Given the description of an element on the screen output the (x, y) to click on. 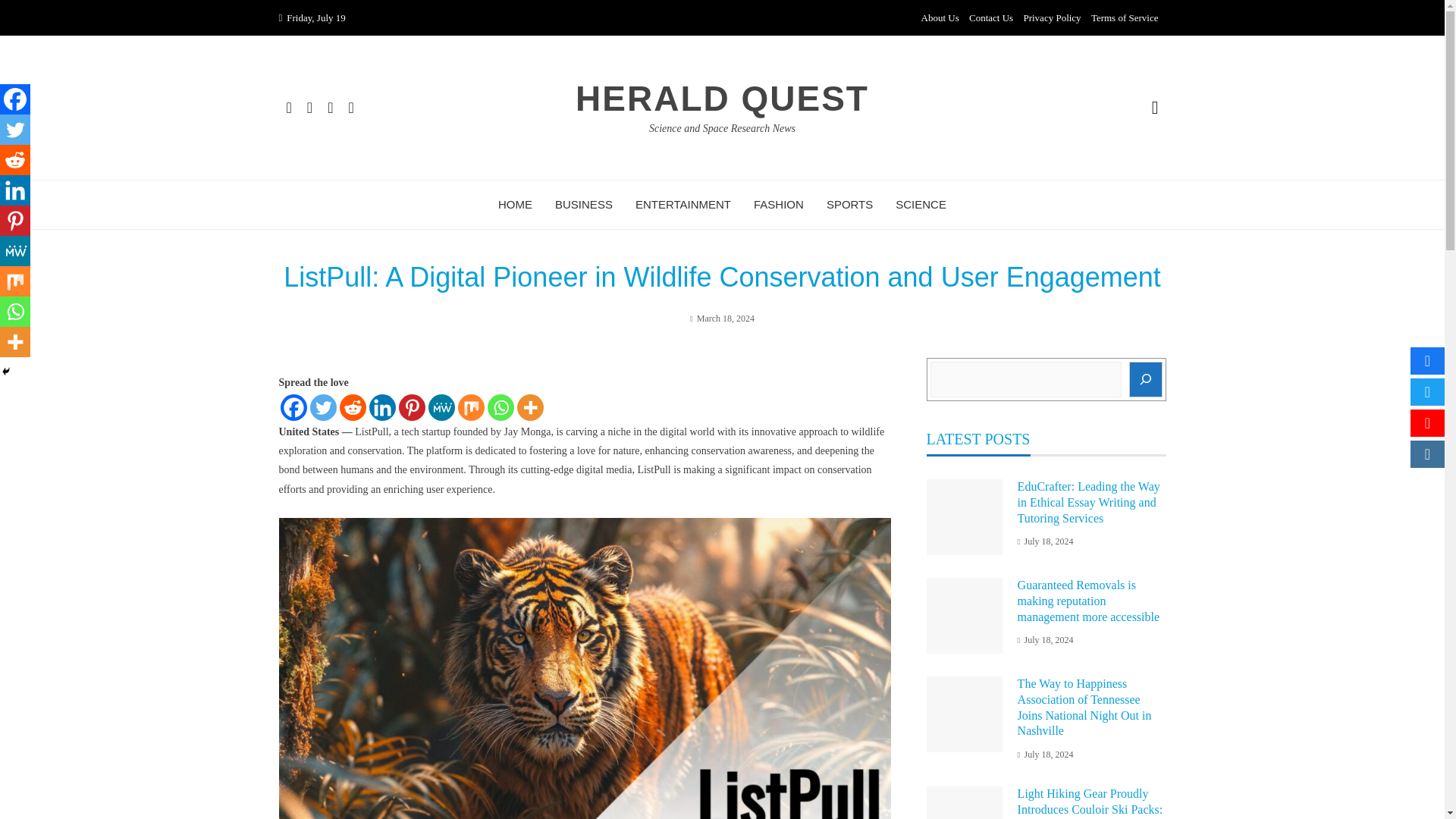
Facebook (294, 406)
Terms of Service (1124, 17)
MeWe (15, 250)
Linkedin (381, 406)
Privacy Policy (1051, 17)
ListPull (371, 431)
BUSINESS (583, 204)
Reddit (15, 159)
HERALD QUEST (722, 97)
More (529, 406)
SPORTS (849, 204)
Mix (471, 406)
More (15, 341)
Mix (15, 281)
Twitter (15, 129)
